Given the description of an element on the screen output the (x, y) to click on. 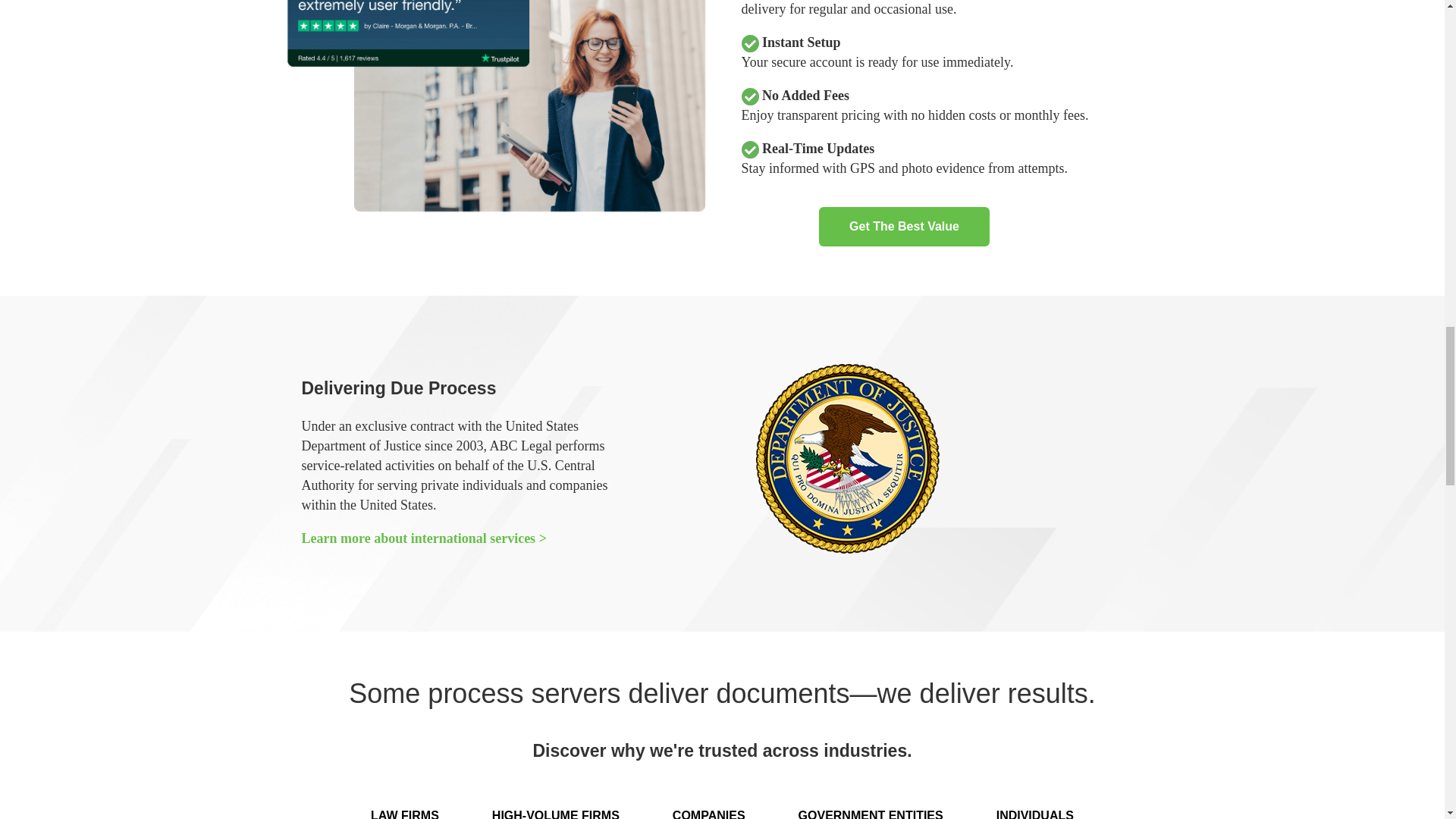
Embedded CTA (903, 226)
